Given the description of an element on the screen output the (x, y) to click on. 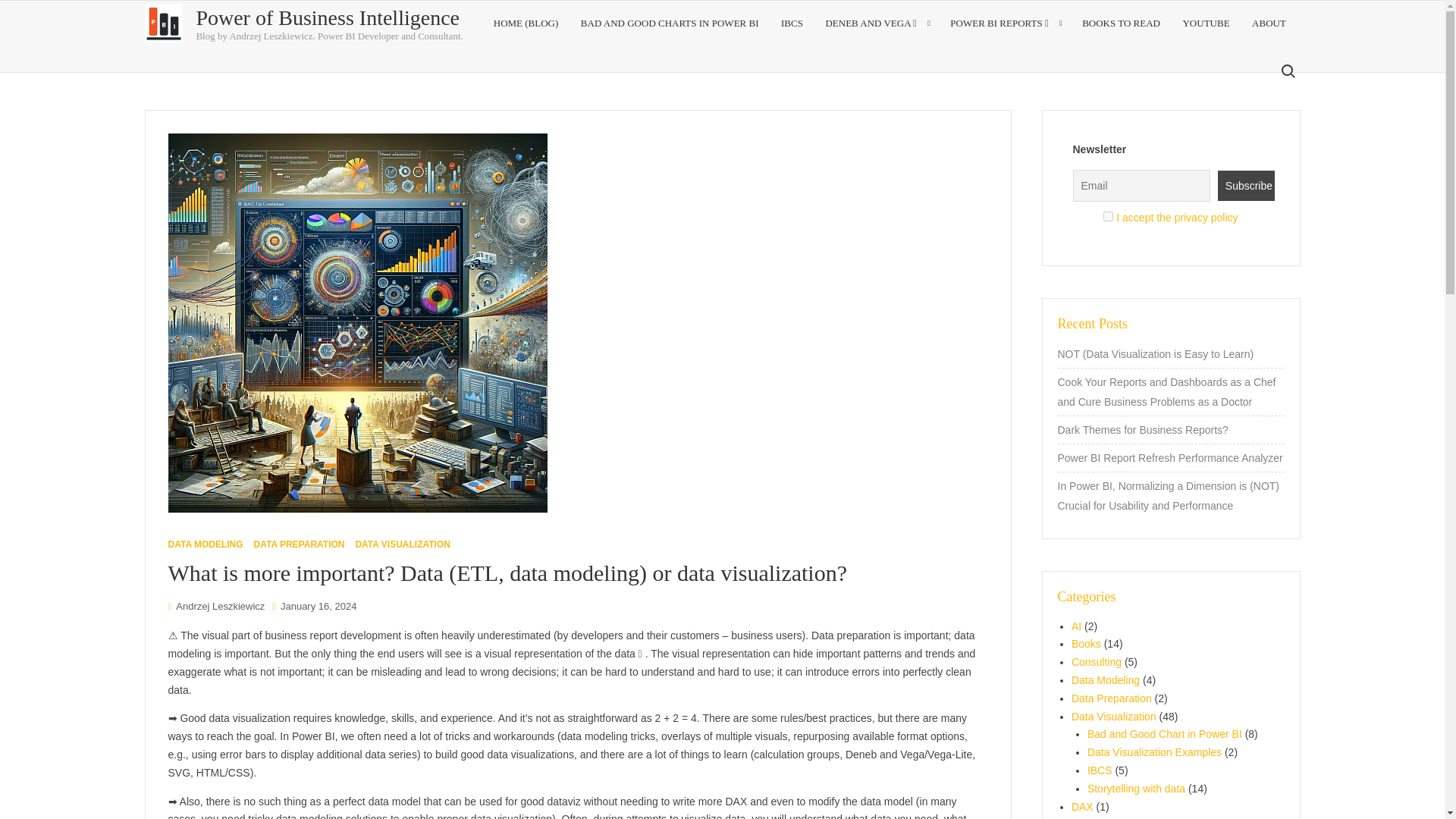
Subscribe (1246, 185)
on (1108, 216)
BAD AND GOOD CHARTS IN POWER BI (669, 22)
Power of Business Intelligence (327, 17)
IBCS (791, 22)
